Given the description of an element on the screen output the (x, y) to click on. 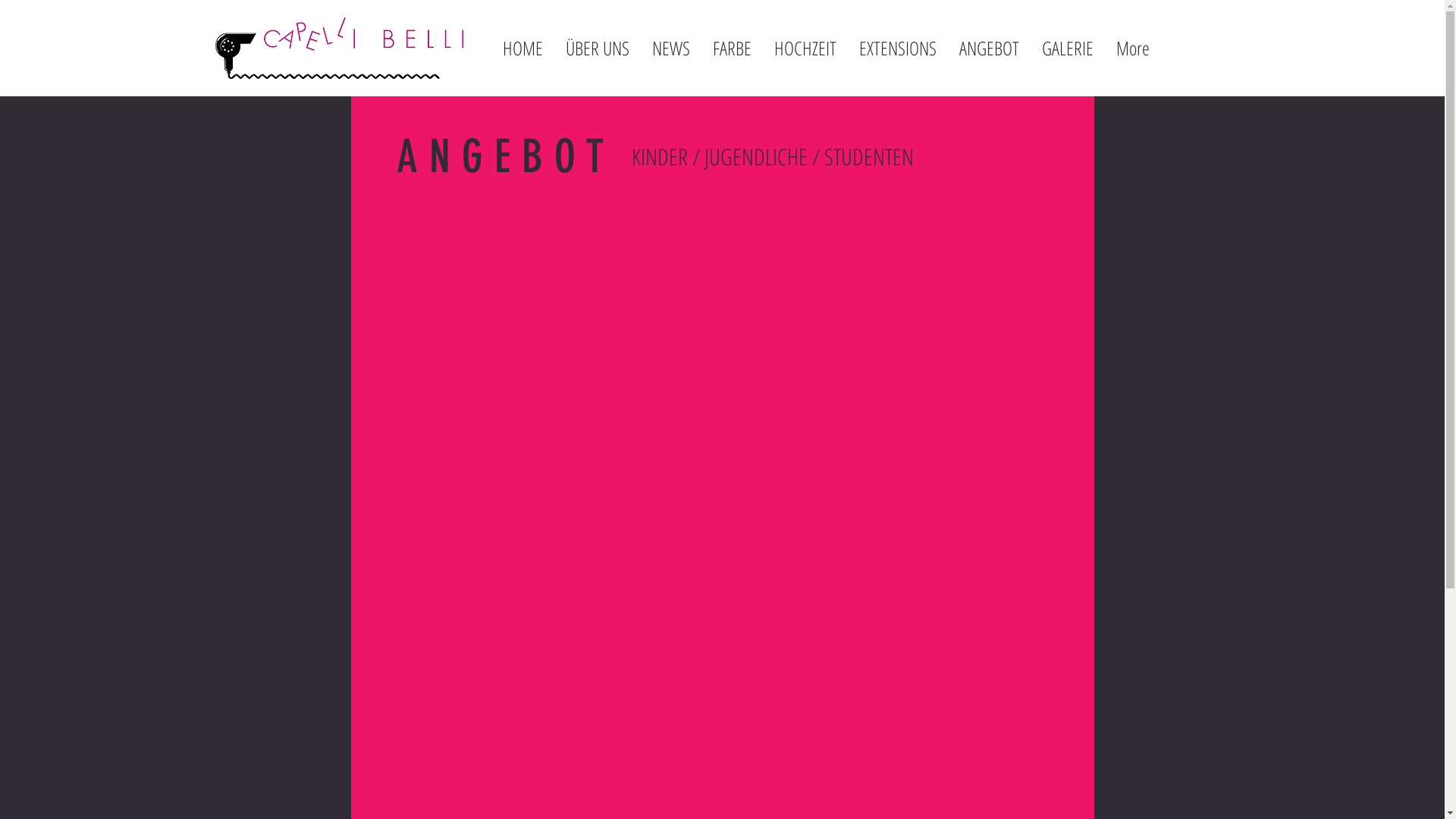
HOME Element type: text (522, 47)
EXTENSIONS Element type: text (897, 47)
GALERIE Element type: text (1066, 47)
HOCHZEIT Element type: text (804, 47)
FARBE Element type: text (731, 47)
NEWS Element type: text (670, 47)
